Given the description of an element on the screen output the (x, y) to click on. 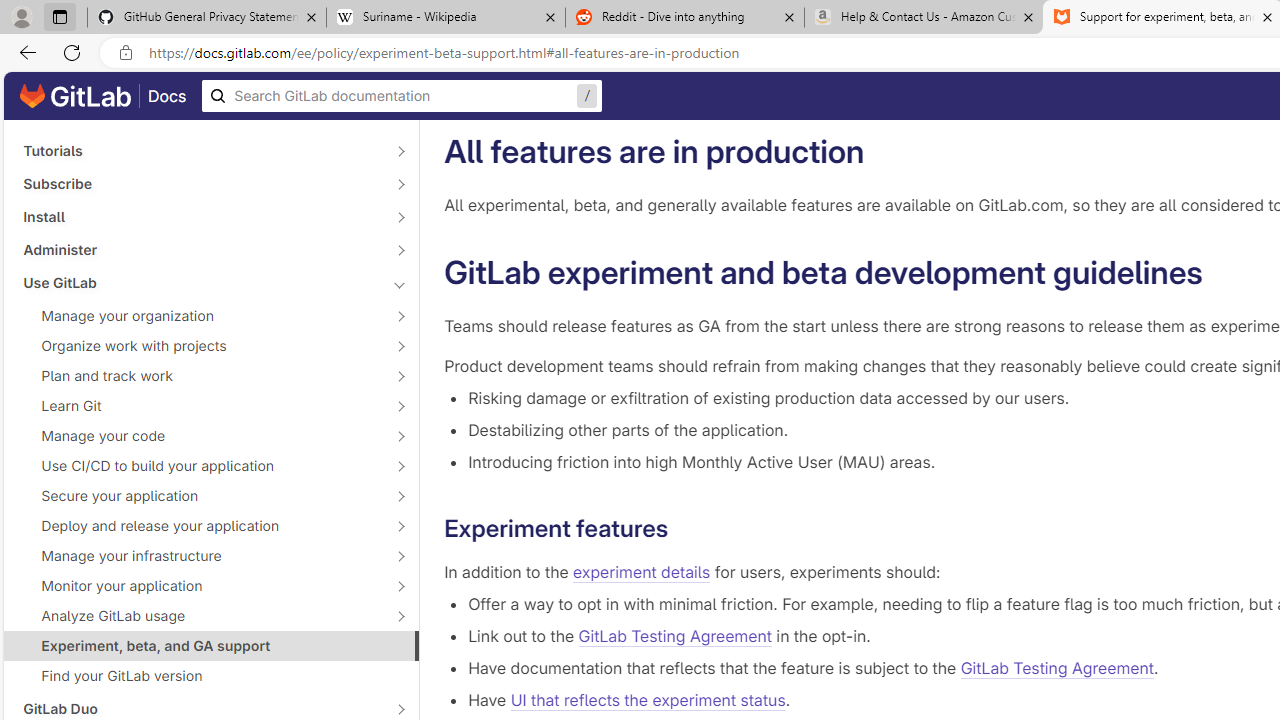
Experiment, beta, and GA support (211, 645)
Use GitLab (199, 282)
Find your GitLab version (211, 675)
Administer (199, 249)
Analyze GitLab usage (199, 615)
GitLab documentation home (75, 96)
Deploy and release your application (199, 525)
Help & Contact Us - Amazon Customer Service - Sleeping (924, 17)
GitLab documentation home Docs (103, 96)
Learn Git (199, 405)
Monitor your application (199, 585)
Use CI/CD to build your application (199, 465)
Suriname - Wikipedia (445, 17)
